Given the description of an element on the screen output the (x, y) to click on. 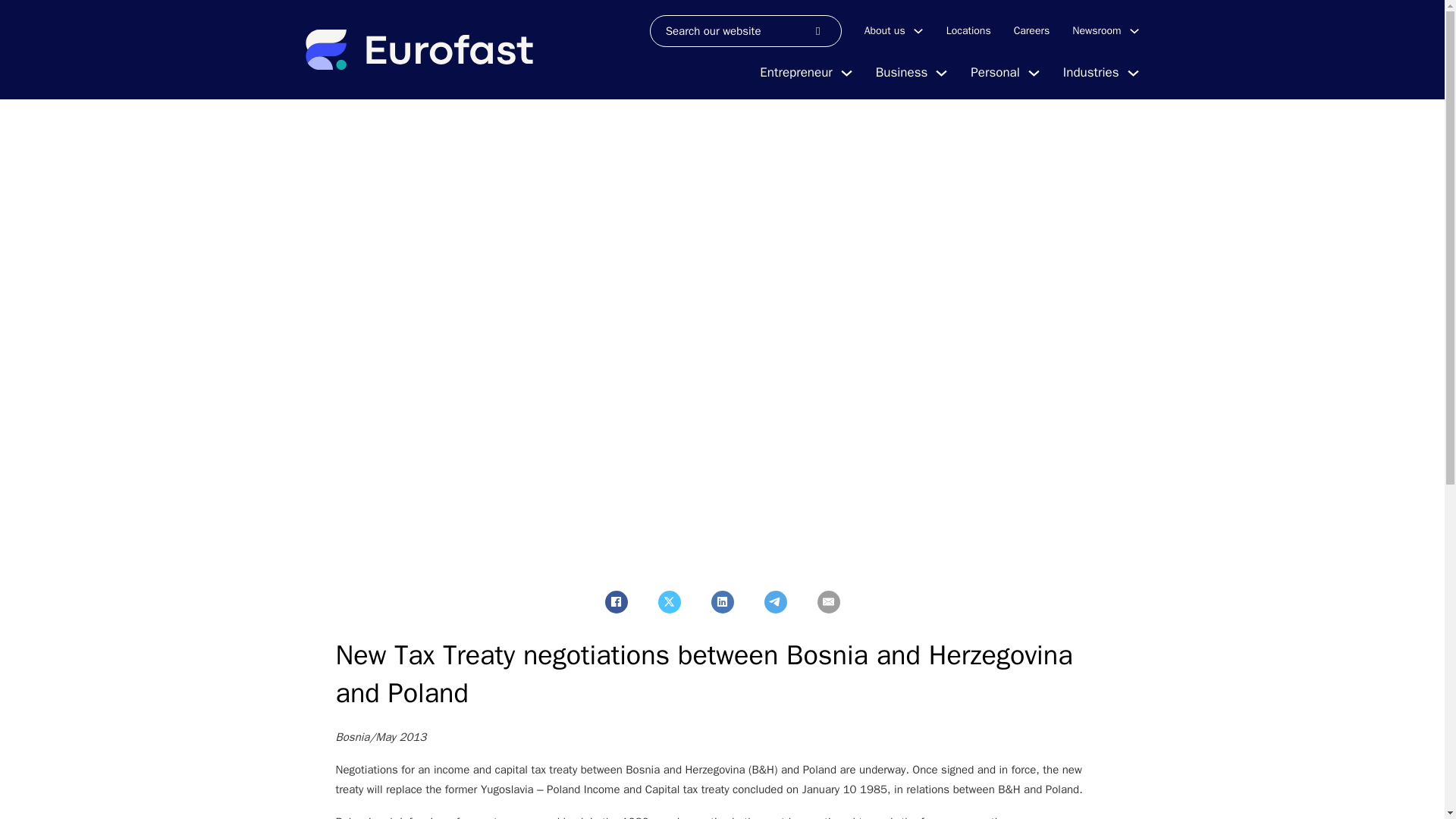
Locations (968, 31)
Careers (1031, 31)
About us (884, 31)
Entrepreneur (795, 73)
Newsroom (1096, 31)
